Given the description of an element on the screen output the (x, y) to click on. 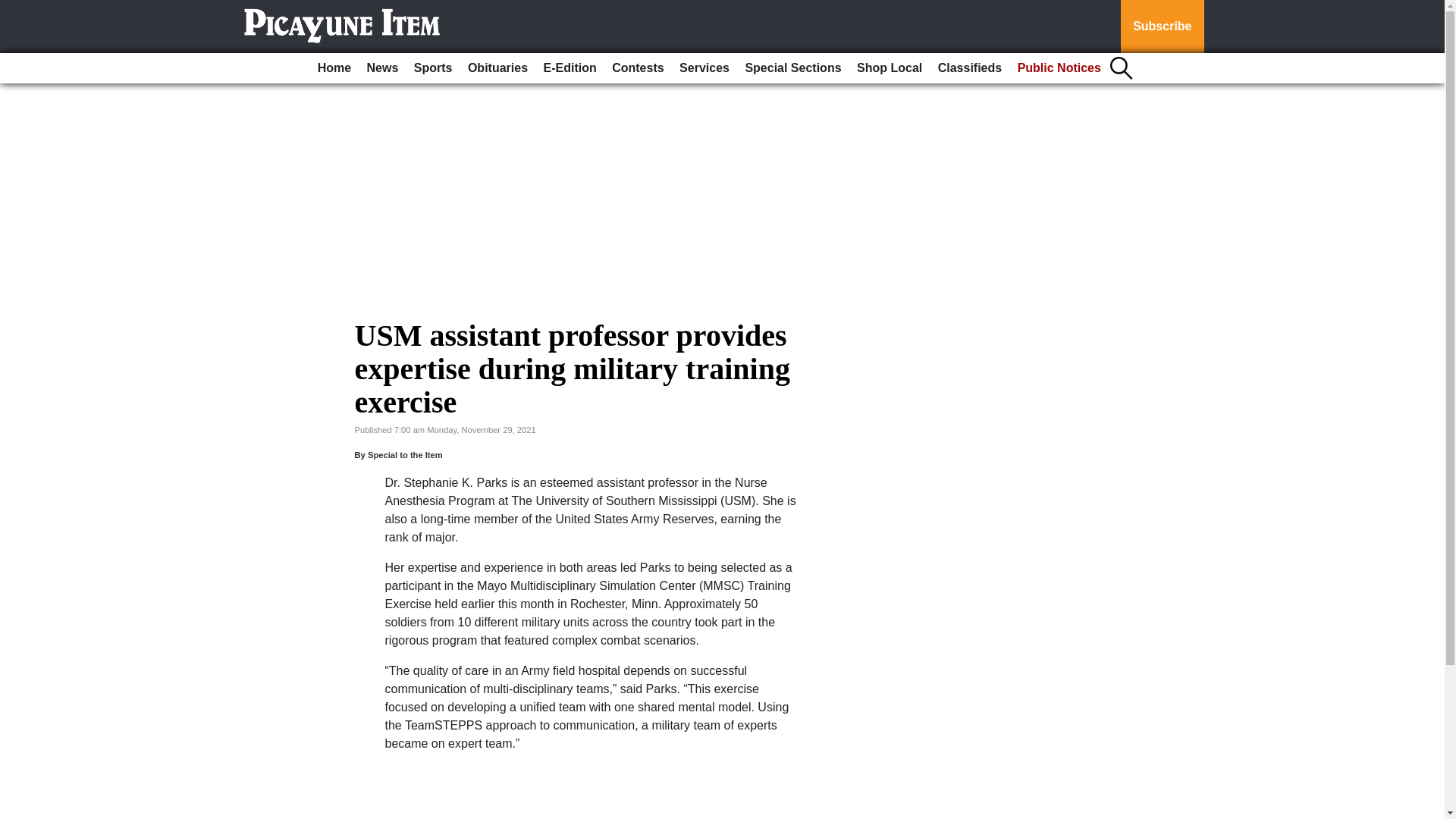
Special Sections (792, 68)
News (382, 68)
Services (703, 68)
Home (333, 68)
Public Notices (1058, 68)
Shop Local (889, 68)
Go (13, 9)
E-Edition (569, 68)
Special to the Item (405, 454)
Sports (432, 68)
